Given the description of an element on the screen output the (x, y) to click on. 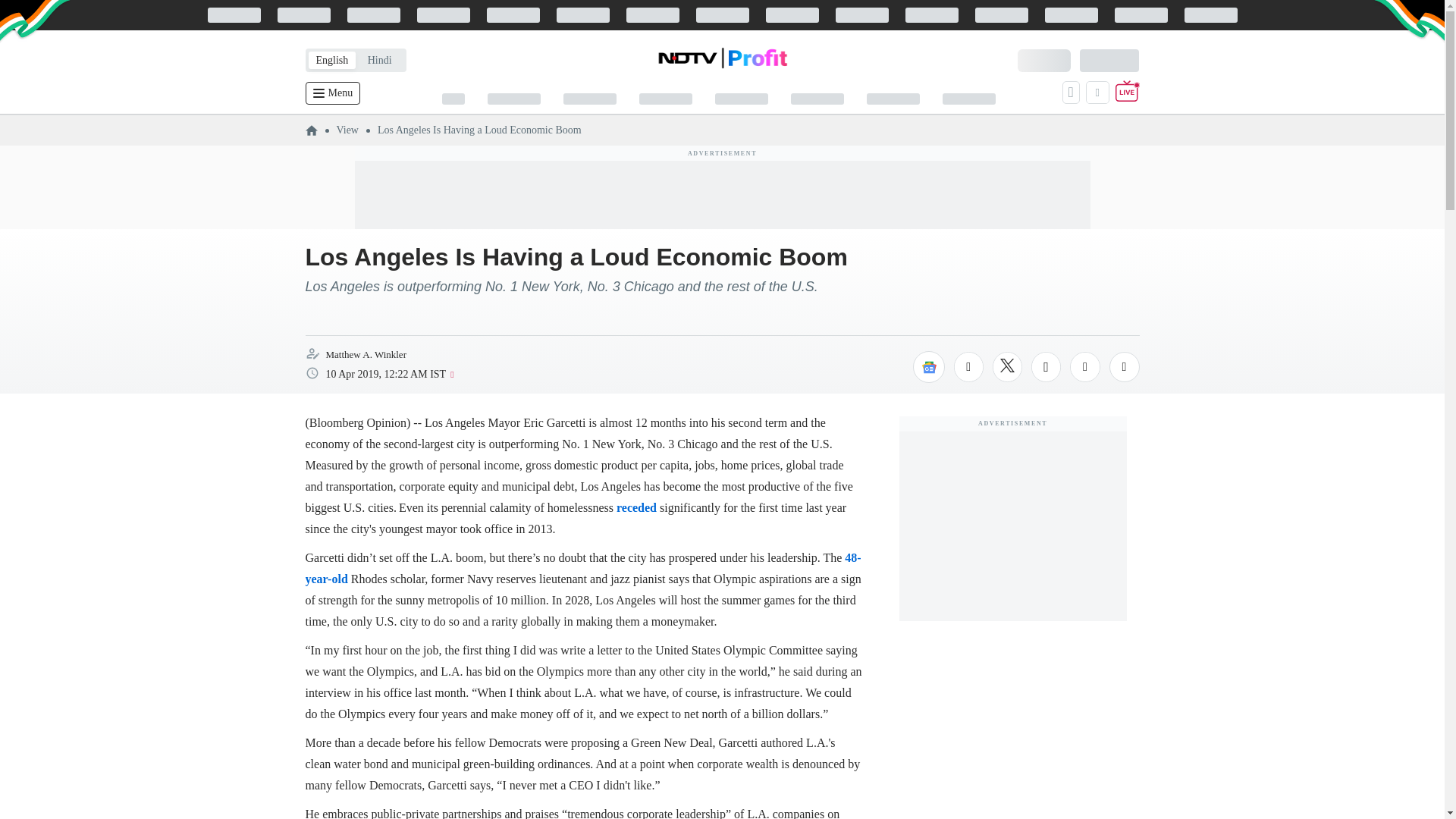
Live TV (1127, 92)
English (331, 59)
Menu (331, 92)
Hindi (378, 59)
Hindi (379, 59)
